Given the description of an element on the screen output the (x, y) to click on. 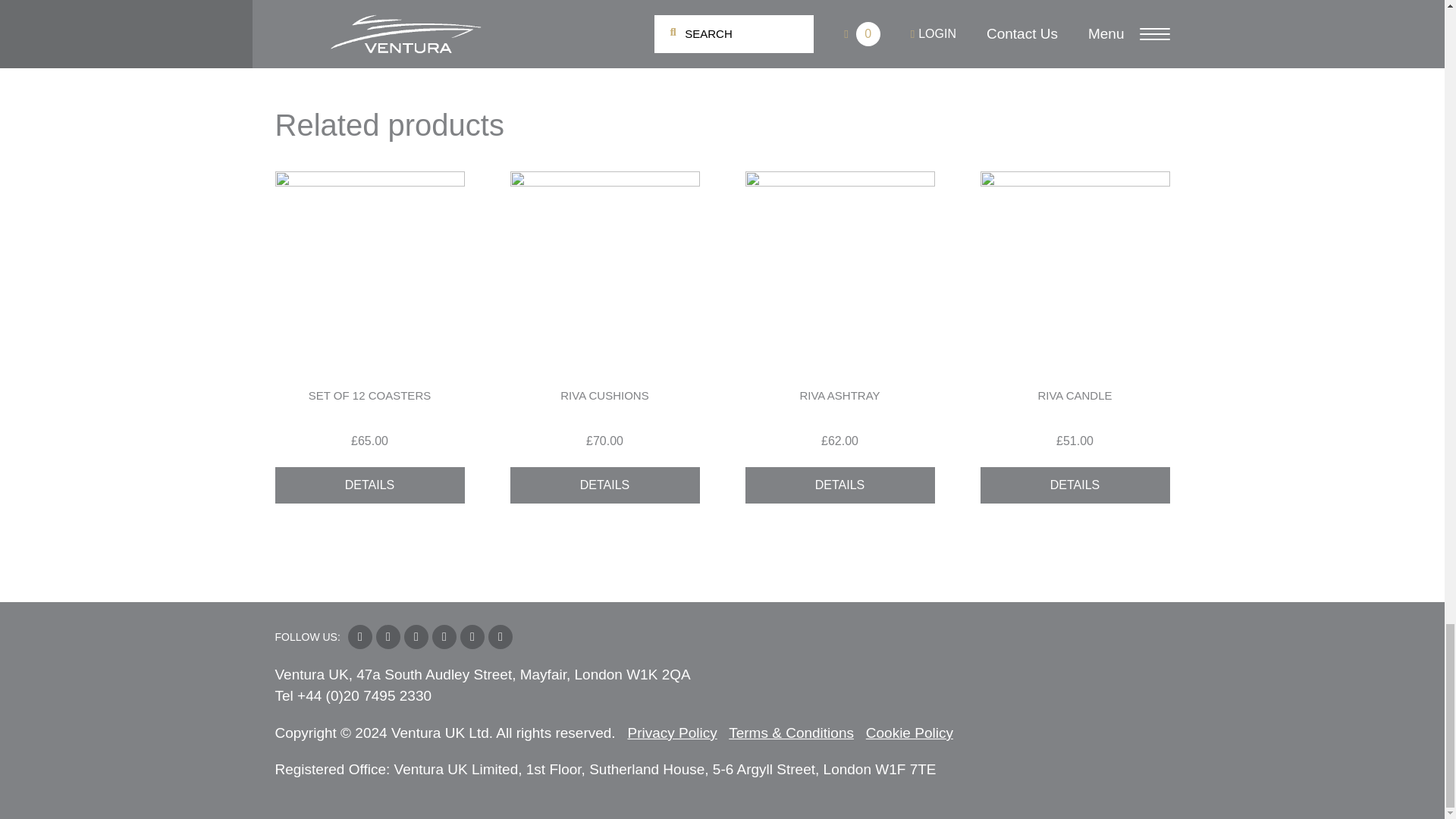
DETAILS (369, 484)
